Given the description of an element on the screen output the (x, y) to click on. 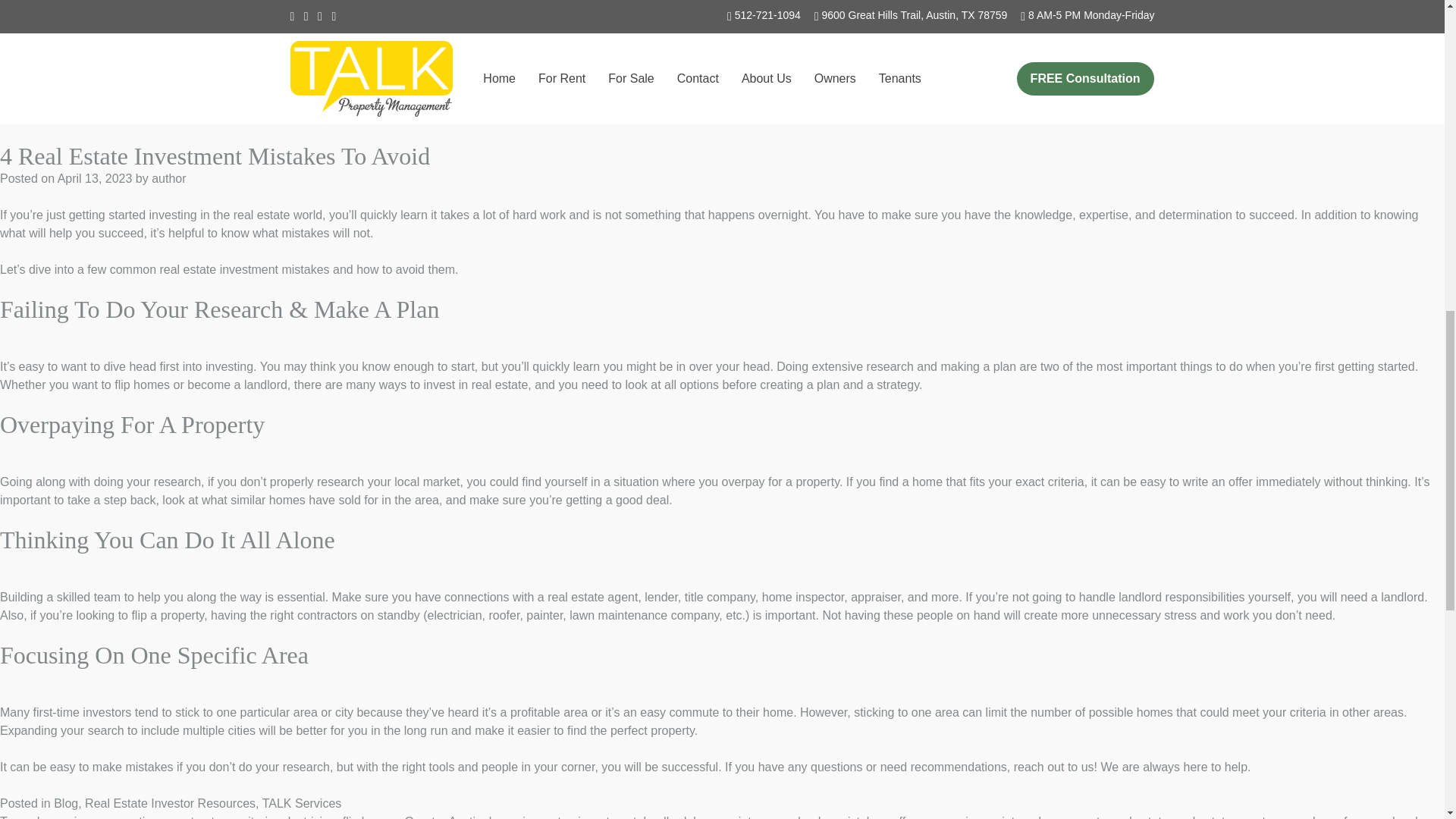
TALK Services (405, 62)
generational wealth (637, 80)
blog (114, 80)
Greater Austin (734, 80)
diversify (271, 80)
Owner Resources (133, 62)
dona brown (331, 80)
Blog (65, 62)
criteria (224, 80)
clear budget (165, 80)
Real Estate Investor Resources (274, 62)
reach out to us (488, 25)
beginners (69, 80)
dona brown talk property management (473, 80)
